Given the description of an element on the screen output the (x, y) to click on. 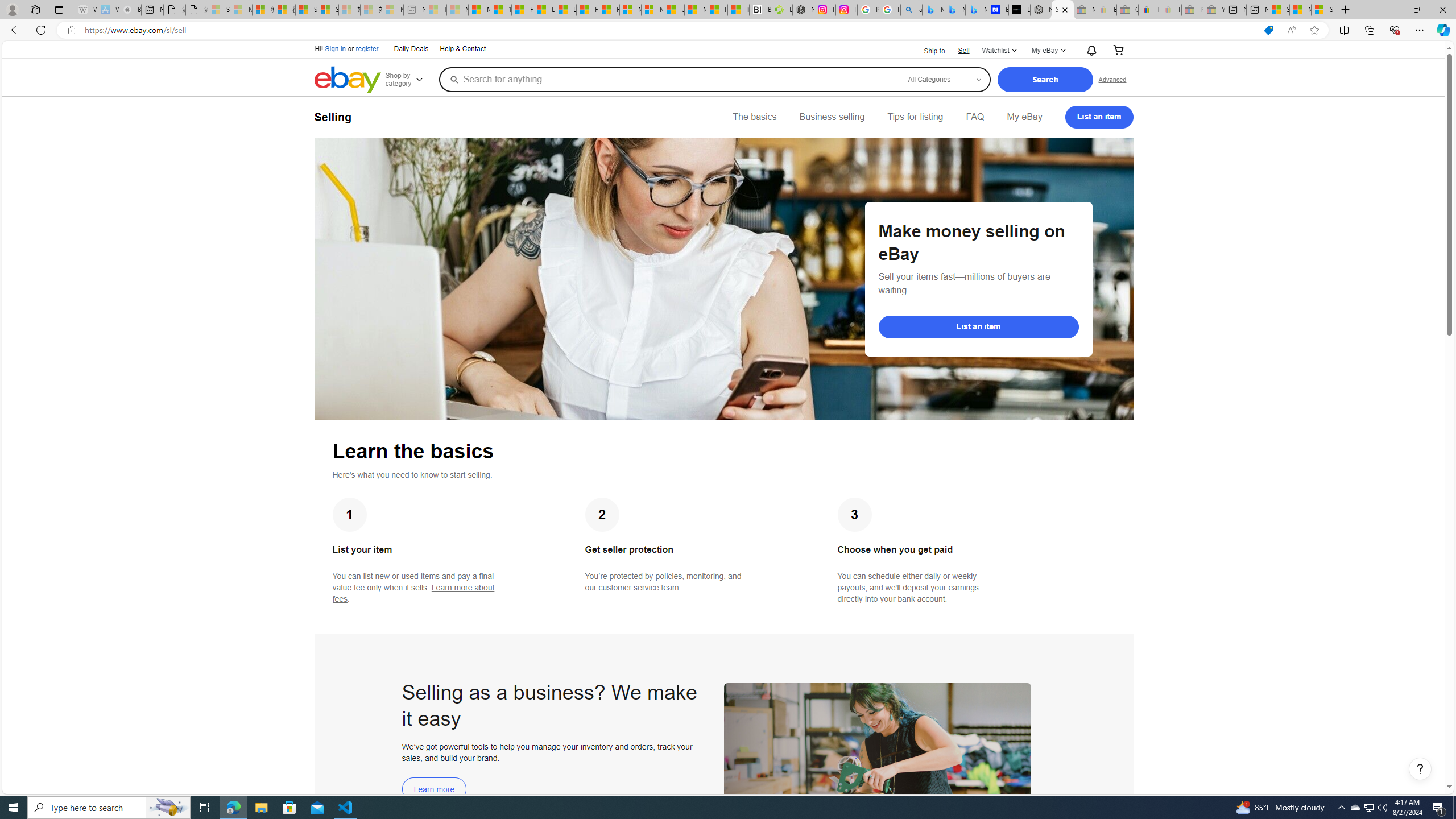
Food and Drink - MSN (522, 9)
List an item (977, 326)
Your shopping cart (1118, 50)
The basics (754, 116)
Selling on eBay | Electronics, Fashion, Home & Garden | eBay (1062, 9)
Expand Cart (1118, 50)
Foo BAR | Trusted Community Engagement and Contributions (608, 9)
US Heat Deaths Soared To Record High Last Year (673, 9)
Business selling (831, 116)
Descarga Driver Updater (781, 9)
Top Stories - MSN - Sleeping (435, 9)
